Given the description of an element on the screen output the (x, y) to click on. 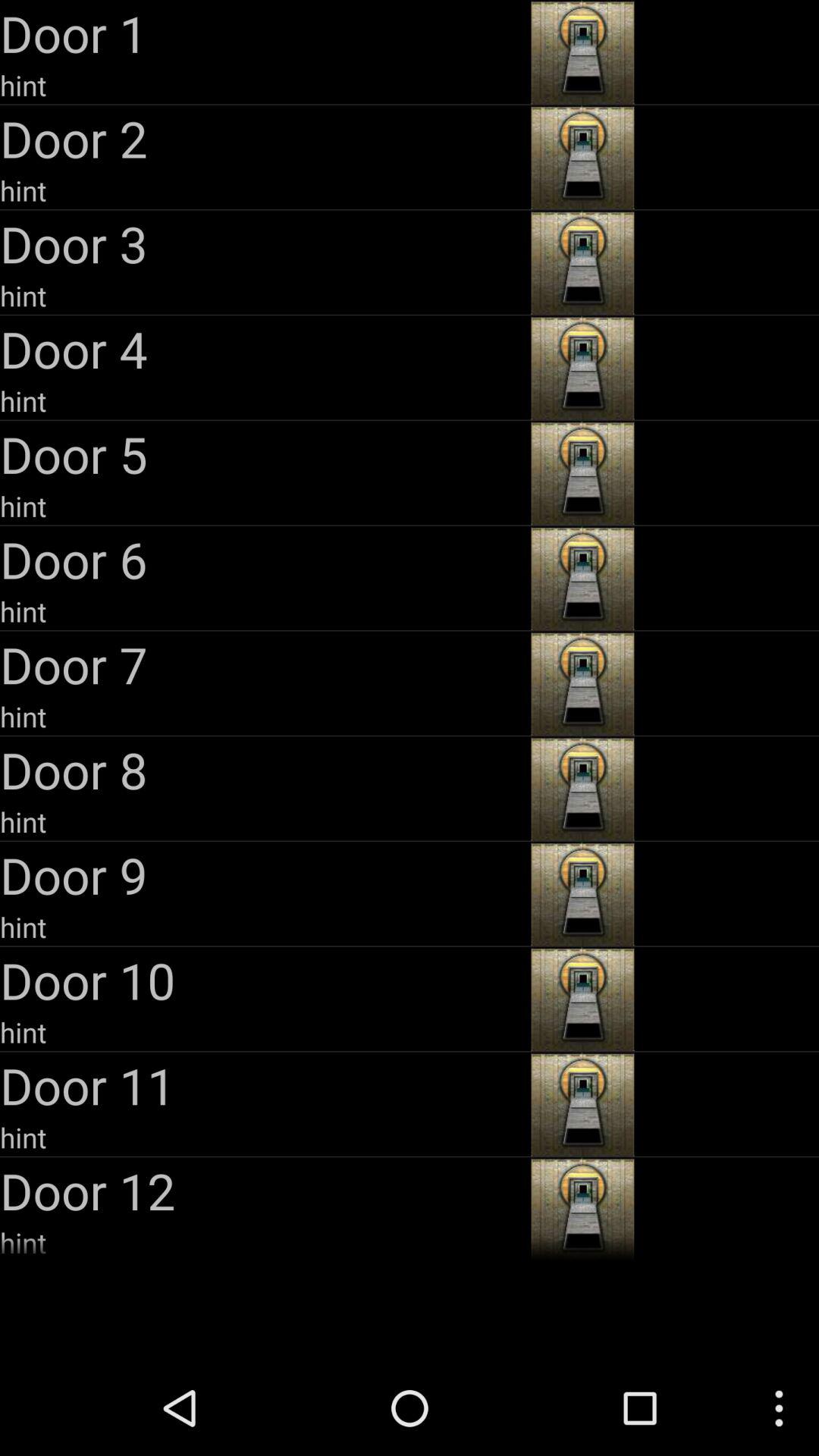
choose the door 9 app (263, 874)
